Given the description of an element on the screen output the (x, y) to click on. 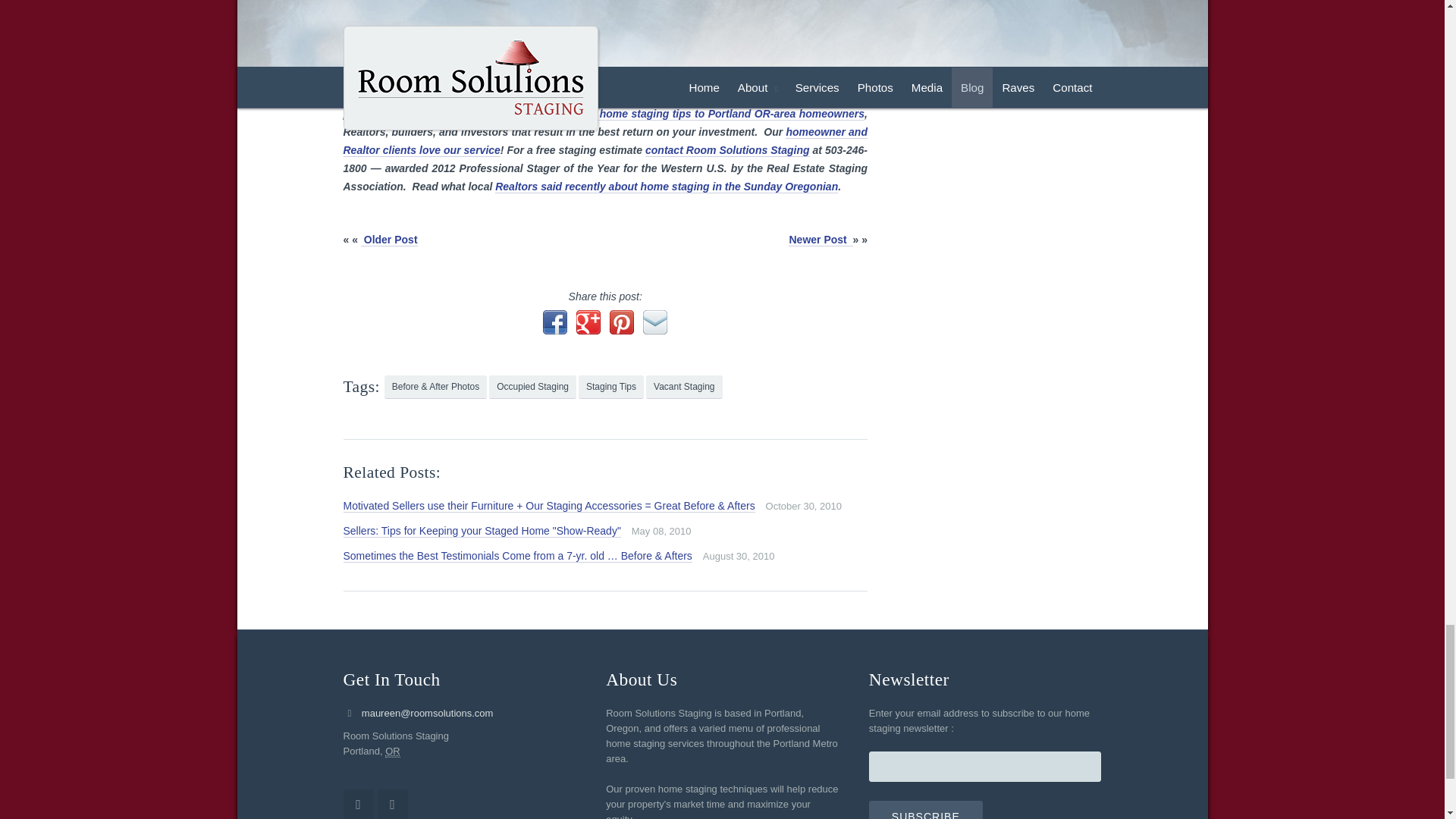
Share via email (654, 322)
Sellers: Tips for Keeping your Staged Home "Show-Ready" (481, 530)
Subscribe (925, 809)
Vacant Staging (684, 386)
Portland OR home staging services (695, 113)
 Older Post (389, 239)
Portland OR home staging contacts (727, 150)
Newer Post  (820, 239)
Staging Tips (610, 386)
contact Room Solutions Staging (727, 150)
Share on Facebook (555, 322)
Portland Oregon home stagers (604, 141)
homeowner and Realtor clients love our service (604, 141)
